Given the description of an element on the screen output the (x, y) to click on. 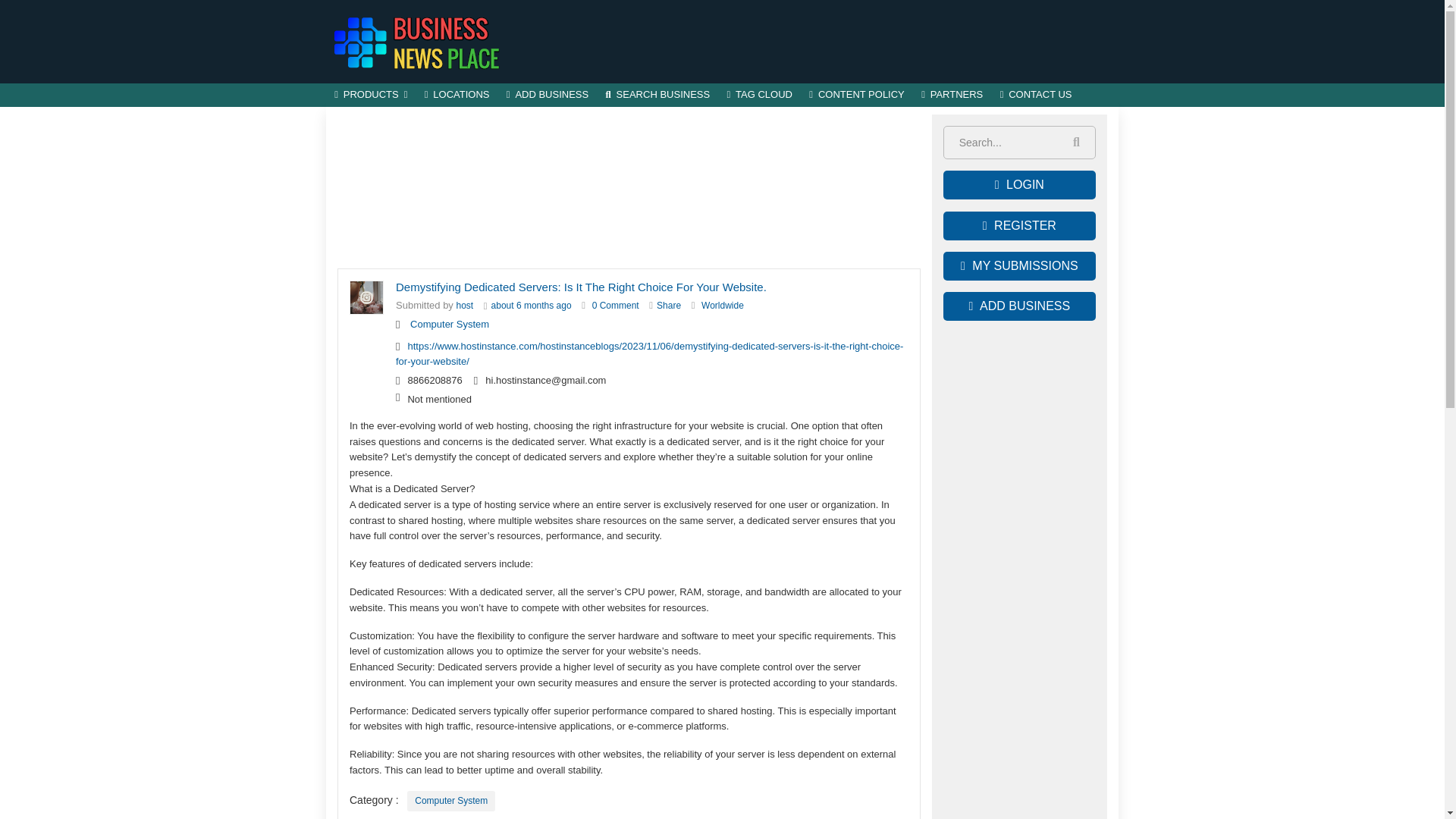
TAG CLOUD (758, 95)
about 6 months ago (532, 305)
LOCATIONS (456, 95)
Share (668, 305)
REGISTER (1019, 225)
Computer System (449, 324)
PARTNERS (951, 95)
0 Comment (615, 305)
hostinstance (465, 305)
Computer System (451, 801)
host (465, 305)
CONTACT US (1035, 95)
MY SUBMISSIONS (1019, 265)
PRODUCTS (371, 95)
Worldwide (722, 305)
